Given the description of an element on the screen output the (x, y) to click on. 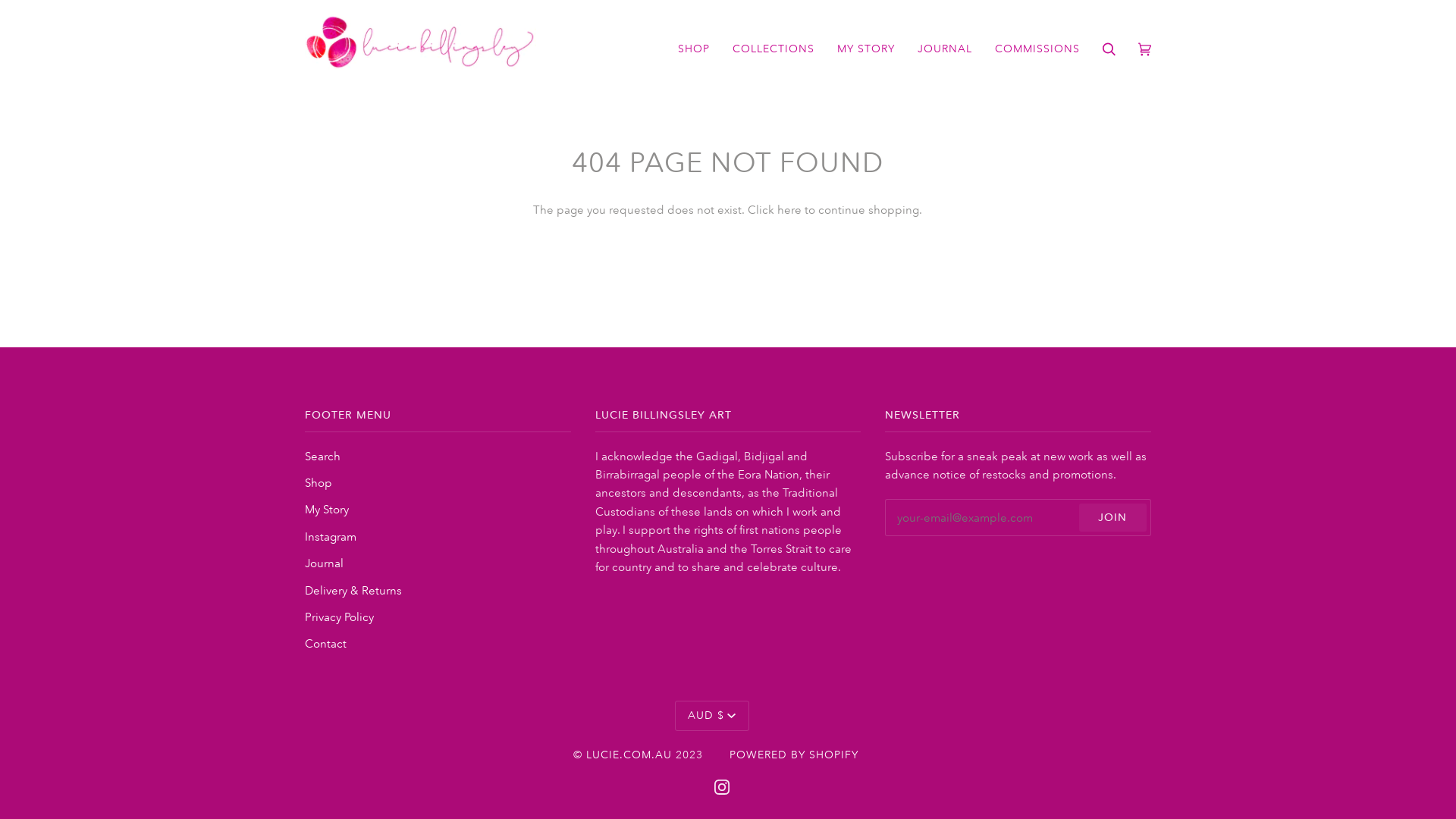
COLLECTIONS Element type: text (773, 48)
JOURNAL Element type: text (944, 48)
POWERED BY SHOPIFY Element type: text (793, 754)
JOIN Element type: text (1112, 517)
Instagram Element type: text (330, 536)
here Element type: text (789, 209)
Contact Element type: text (325, 643)
My Story Element type: text (326, 509)
LUCIE.COM.AU Element type: text (628, 754)
Shop Element type: text (318, 482)
COMMISSIONS Element type: text (1037, 48)
INSTAGRAM Element type: text (721, 786)
Privacy Policy Element type: text (338, 616)
Search Element type: text (322, 455)
Delivery & Returns Element type: text (352, 590)
SHOP Element type: text (693, 48)
Search Element type: text (1108, 48)
Journal Element type: text (323, 562)
Cart
(0) Element type: text (1144, 48)
MY STORY Element type: text (865, 48)
AUD $ Element type: text (711, 715)
